Given the description of an element on the screen output the (x, y) to click on. 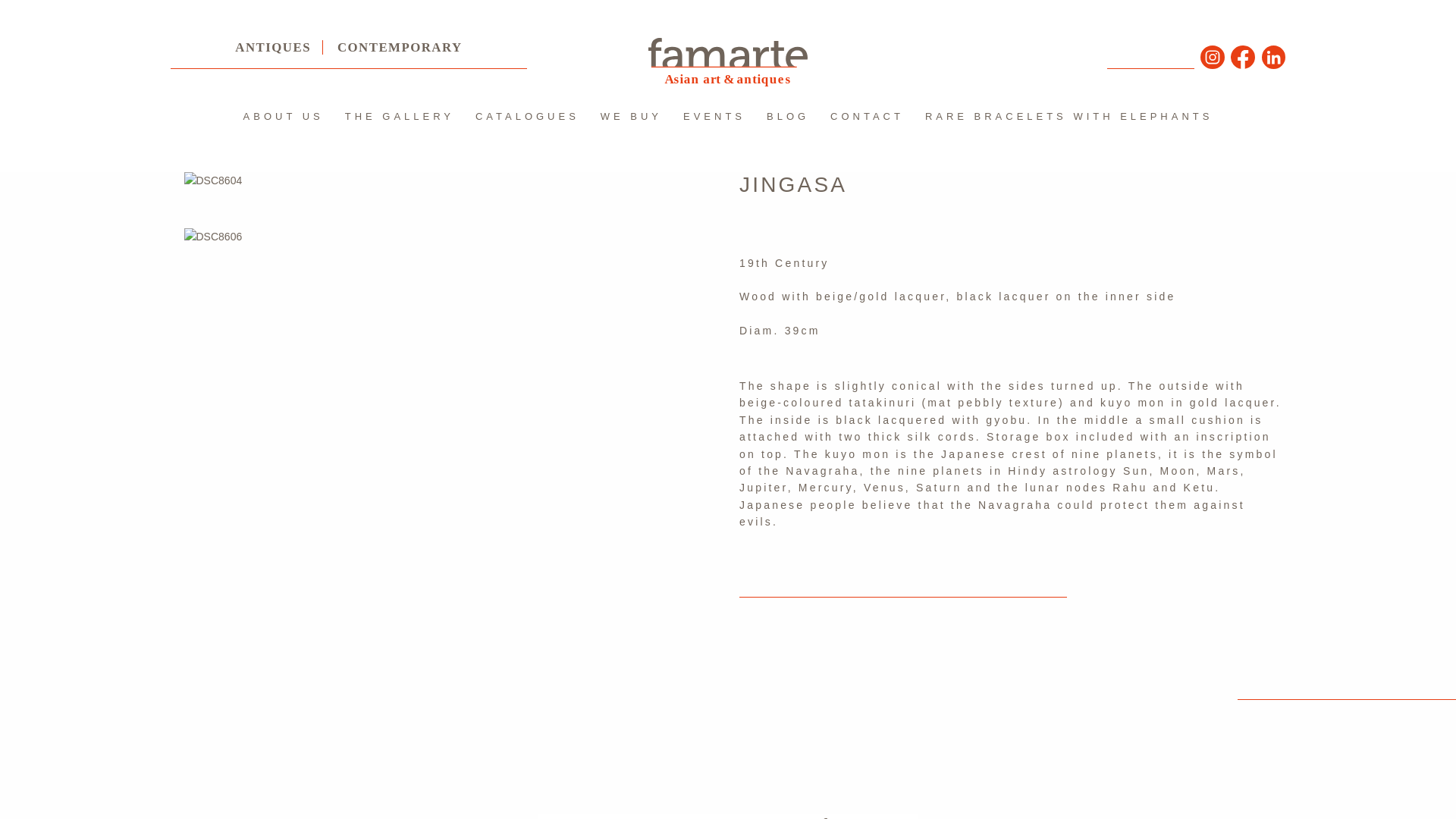
THE GALLERY (399, 116)
WE BUY (630, 116)
Thailand (1069, 116)
Contact (866, 116)
RARE BRACELETS WITH ELEPHANTS (1069, 116)
CONTACT (866, 116)
ABOUT US  (283, 116)
BLOG (787, 116)
CATALOGUES (526, 116)
ABOUT US (283, 116)
